Given the description of an element on the screen output the (x, y) to click on. 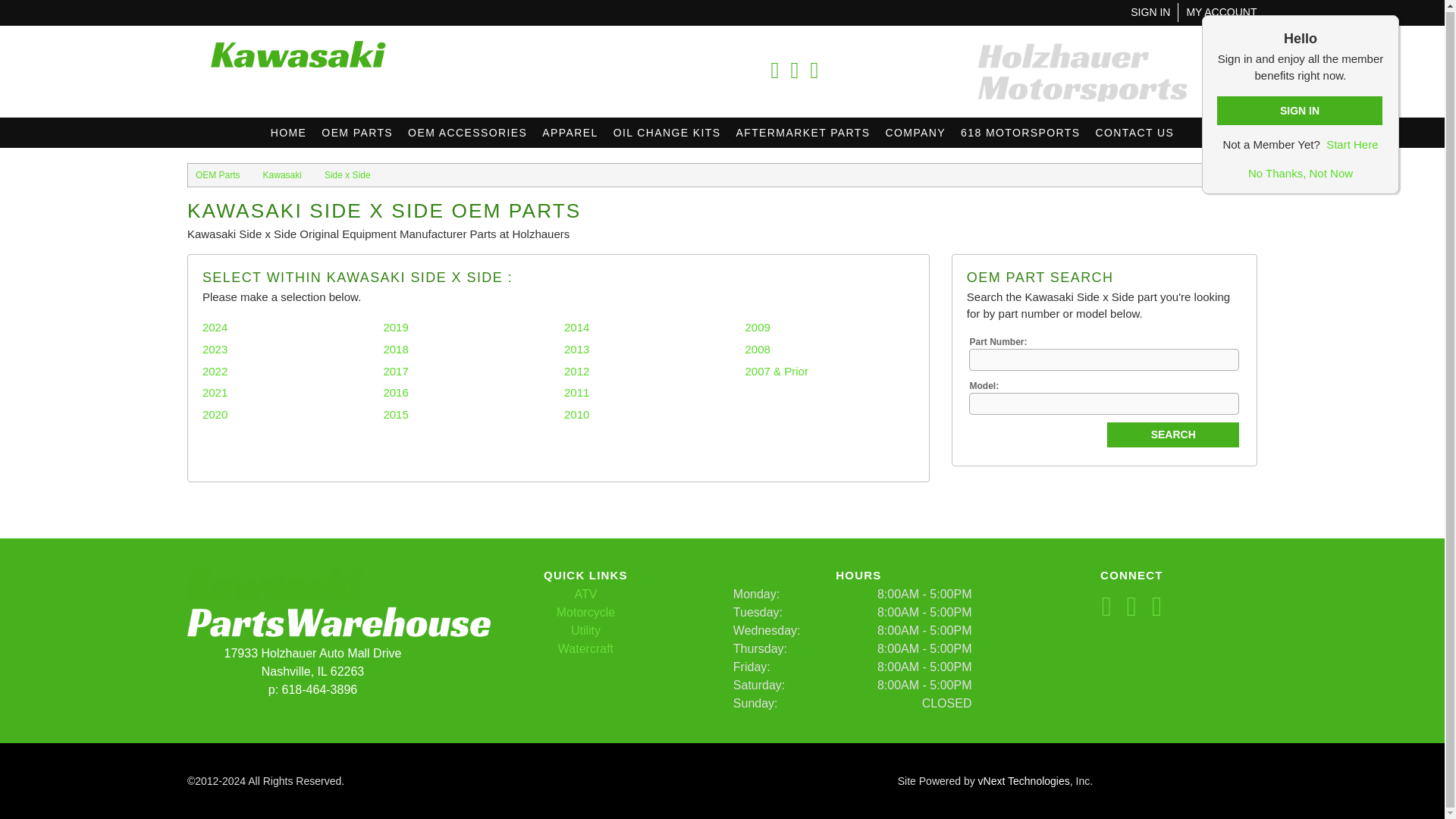
search (1172, 434)
OIL CHANGE KITS (667, 132)
OEM PARTS (357, 132)
SIGN IN (1150, 11)
APPAREL (569, 132)
OEM ACCESSORIES (467, 132)
HOME (288, 132)
618-464-3896 (694, 70)
MY ACCOUNT (1221, 11)
AFTERMARKET PARTS (802, 132)
